Given the description of an element on the screen output the (x, y) to click on. 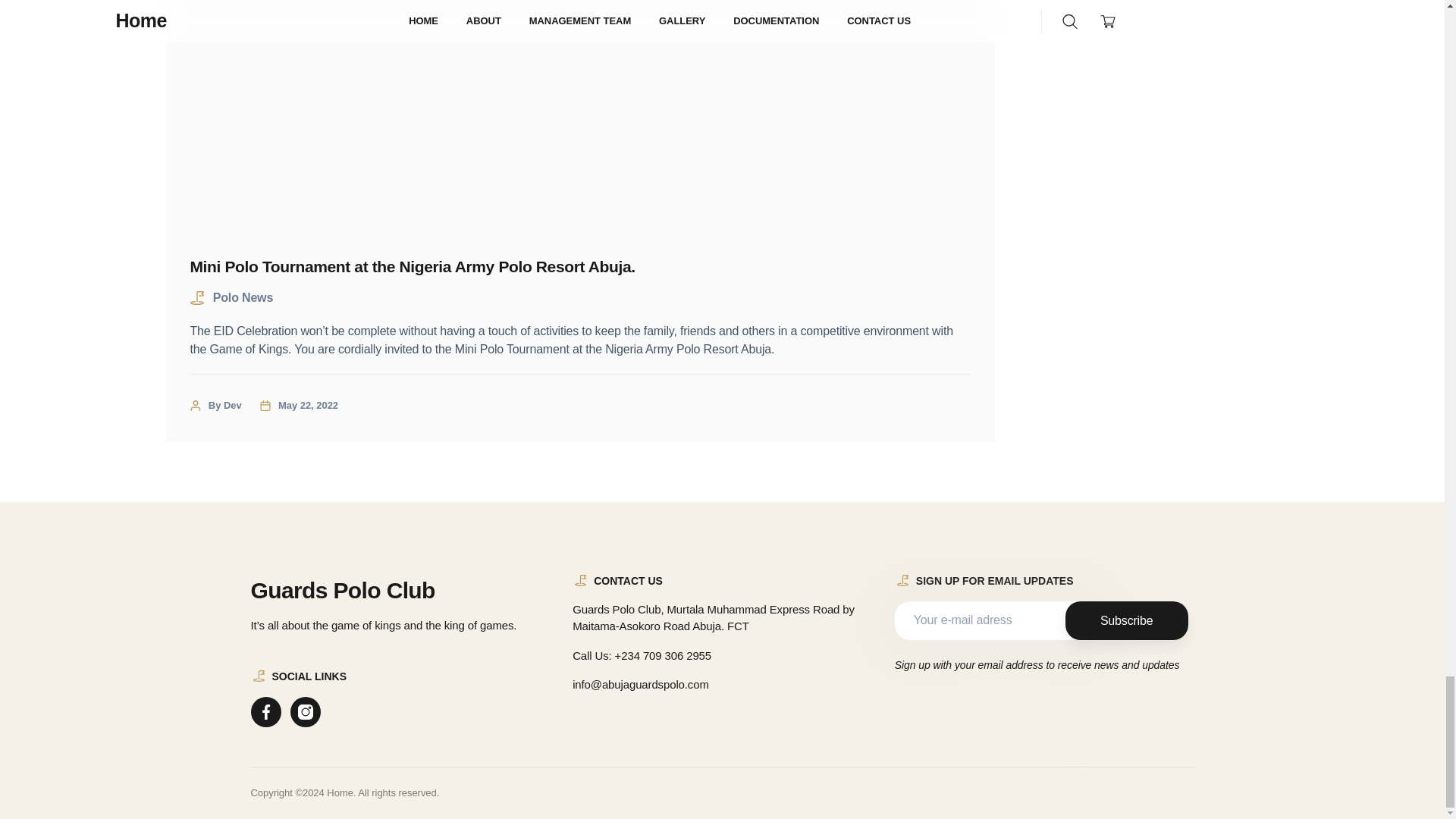
Subscribe (1126, 620)
Mini Polo Tournament at the Nigeria Army Polo Resort Abuja. (579, 266)
Polo News (242, 297)
By Dev (224, 405)
